Given the description of an element on the screen output the (x, y) to click on. 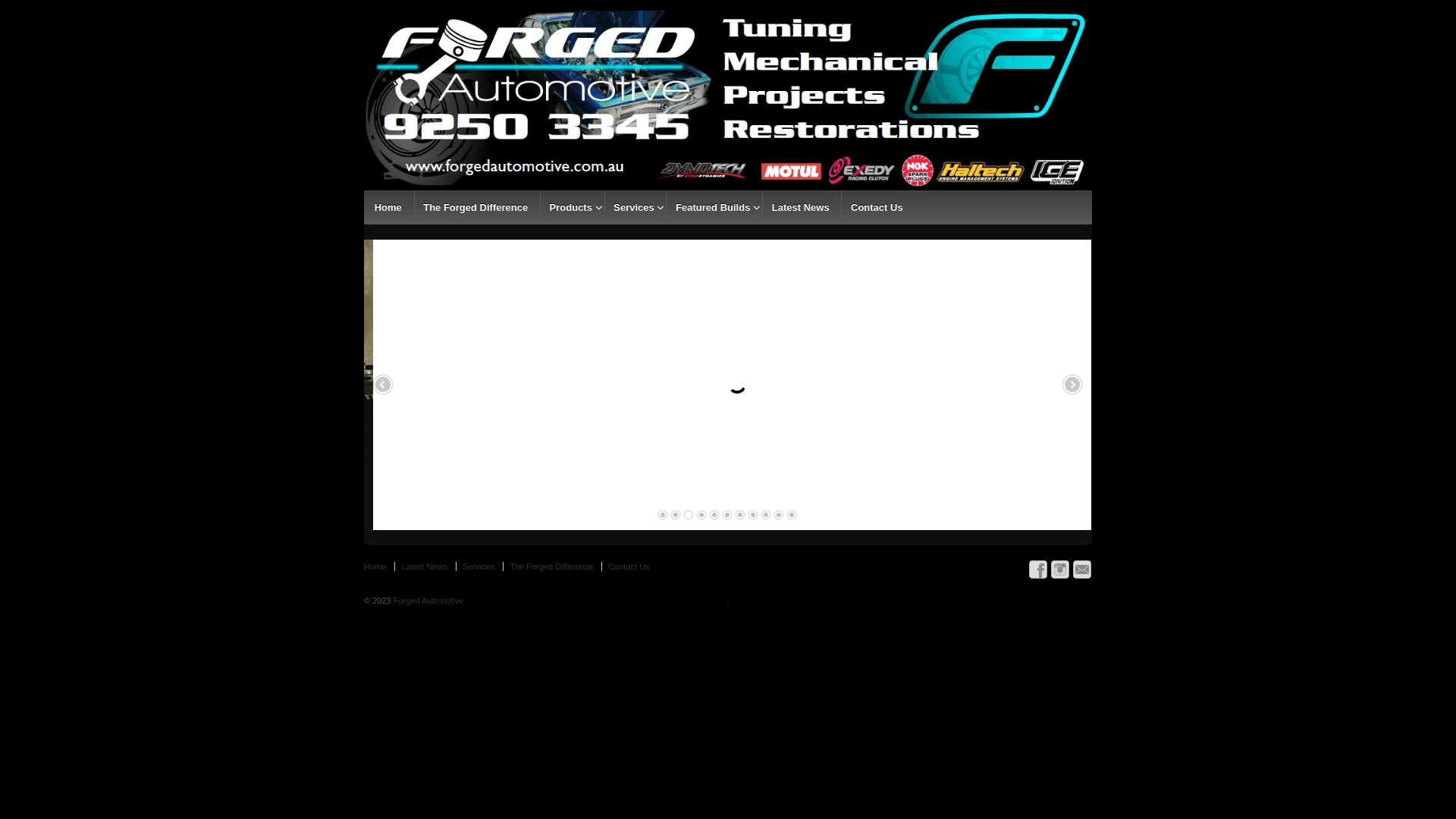
The Forged Difference Element type: text (475, 207)
The Forged Difference Element type: text (550, 566)
Services Element type: text (633, 207)
Latest News Element type: text (423, 566)
Contact Us Element type: text (875, 207)
Contact Us Element type: text (628, 566)
Home Element type: text (378, 566)
Forged Automotive Element type: text (427, 600)
Latest News Element type: text (799, 207)
Featured Builds Element type: text (712, 207)
Products Element type: text (570, 207)
Home Element type: text (388, 207)
Services Element type: text (477, 566)
